Given the description of an element on the screen output the (x, y) to click on. 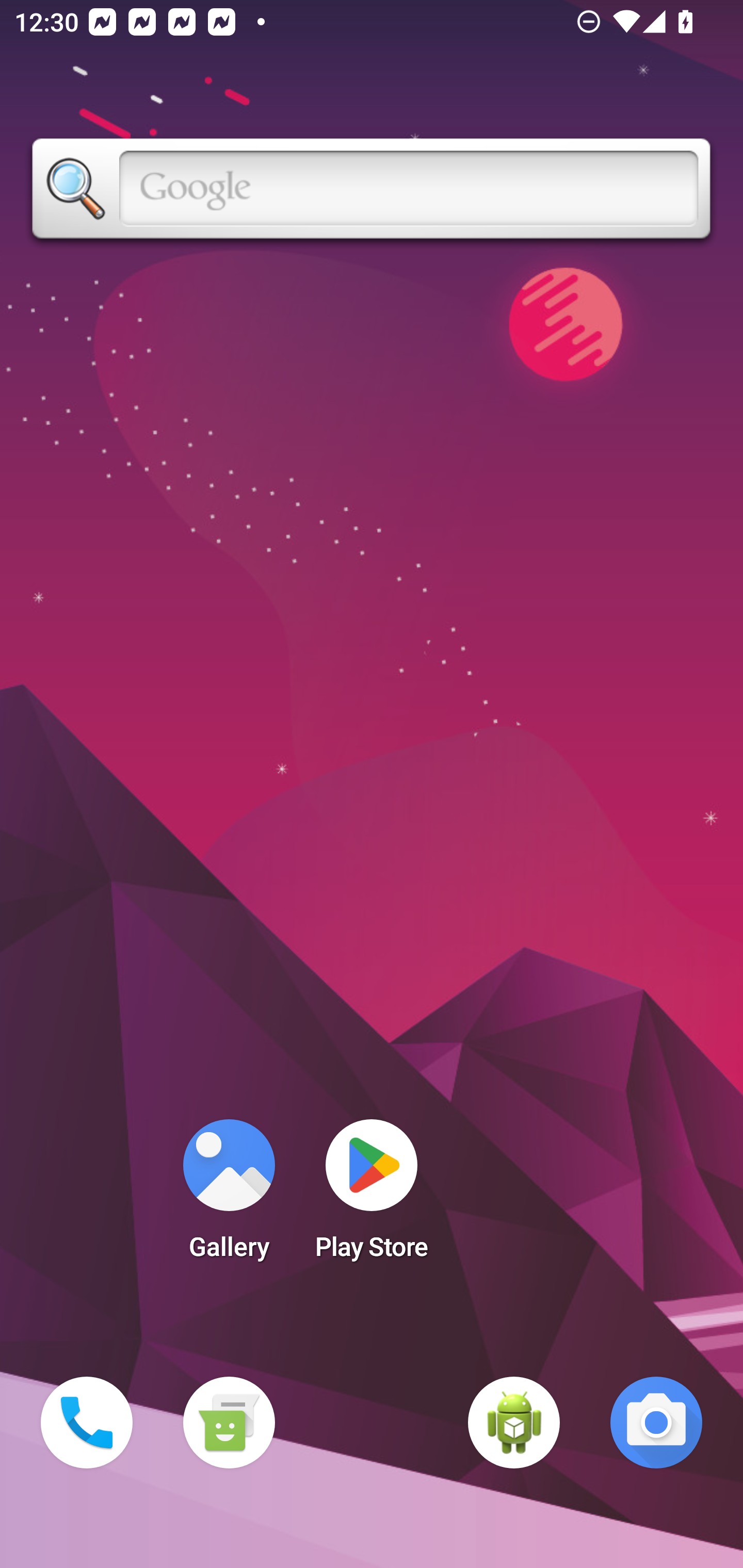
Gallery (228, 1195)
Play Store (371, 1195)
Phone (86, 1422)
Messaging (228, 1422)
WebView Browser Tester (513, 1422)
Camera (656, 1422)
